Given the description of an element on the screen output the (x, y) to click on. 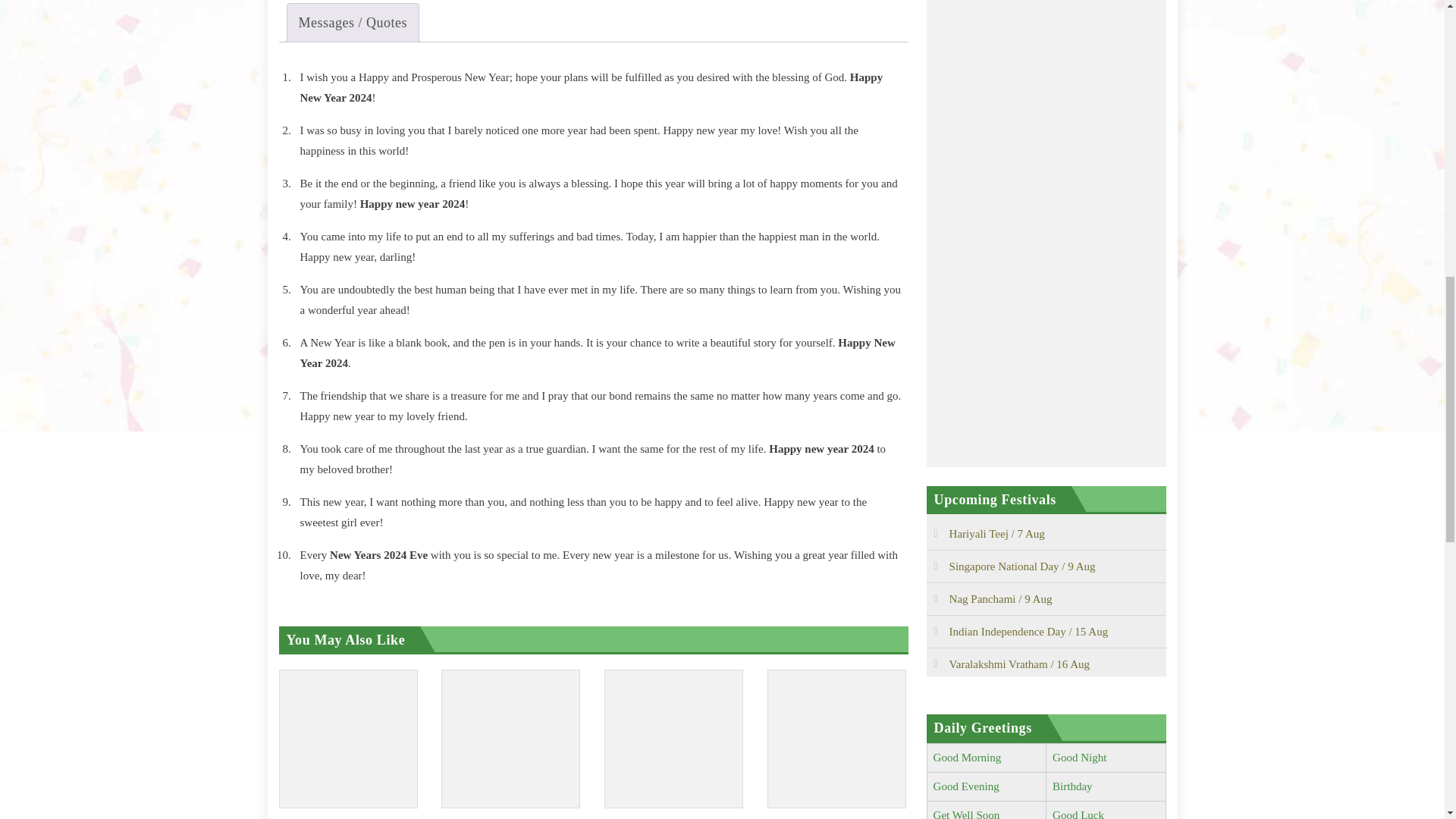
Good Night (1079, 757)
Good Evening (965, 786)
Get Well Soon (966, 814)
Happy Birthday (1072, 786)
Good Morning (967, 757)
